Given the description of an element on the screen output the (x, y) to click on. 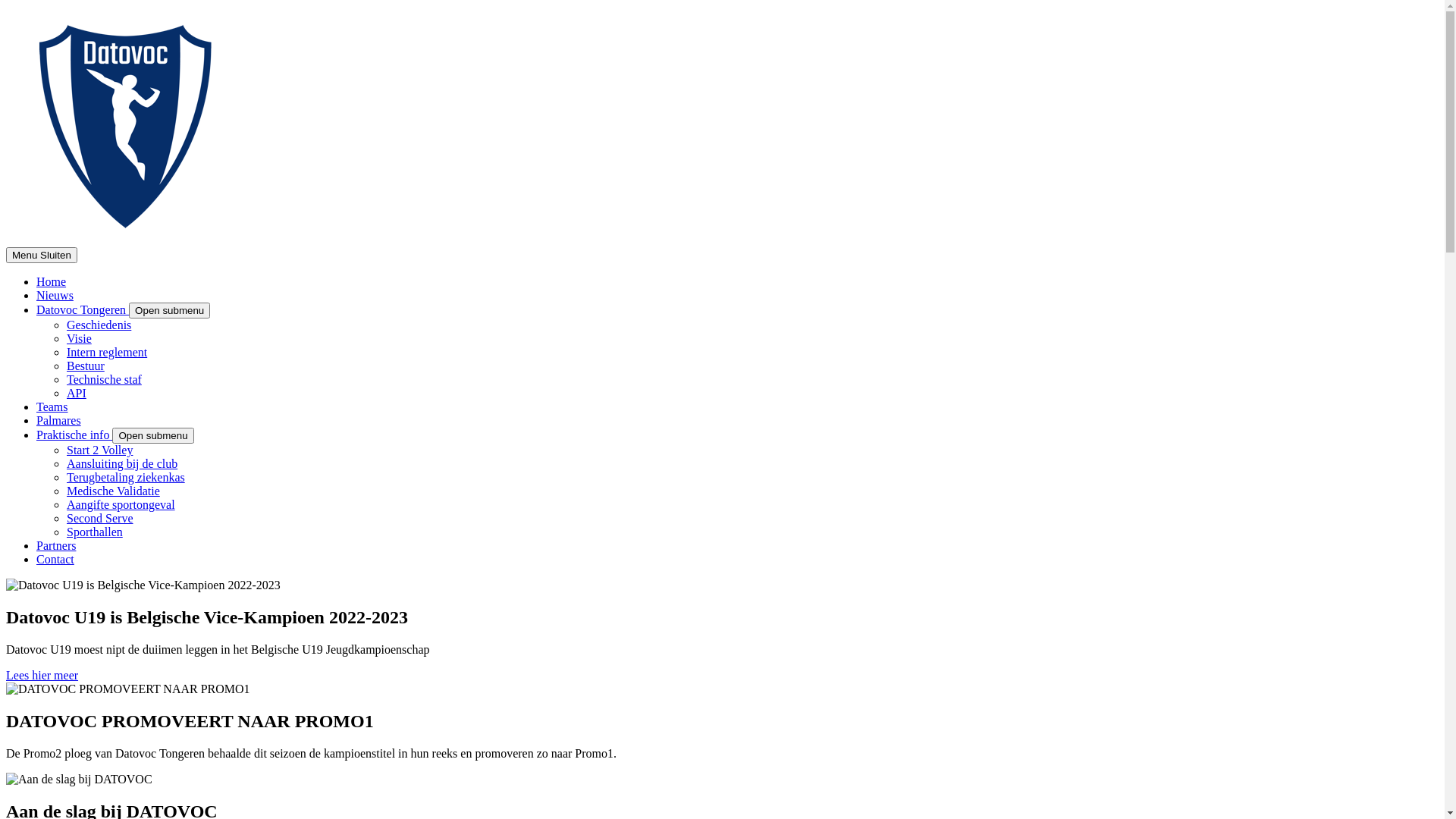
Bestuur Element type: text (85, 365)
Aangifte sportongeval Element type: text (120, 504)
Teams Element type: text (52, 406)
Medische Validatie Element type: text (113, 490)
Open submenu Element type: text (169, 310)
Terugbetaling ziekenkas Element type: text (125, 476)
Technische staf Element type: text (103, 379)
Contact Element type: text (55, 558)
Second Serve Element type: text (99, 517)
Partners Element type: text (55, 545)
Start 2 Volley Element type: text (99, 449)
Visie Element type: text (78, 338)
Geschiedenis Element type: text (98, 324)
Palmares Element type: text (58, 420)
Nieuws Element type: text (54, 294)
Home Element type: text (50, 281)
API Element type: text (76, 392)
Sporthallen Element type: text (94, 531)
Aansluiting bij de club Element type: text (121, 463)
Intern reglement Element type: text (106, 351)
Praktische info Element type: text (74, 434)
Datovoc Tongeren Element type: text (82, 309)
Menu Sluiten Element type: text (41, 255)
Lees hier meer Element type: text (42, 674)
Open submenu Element type: text (152, 435)
